Given the description of an element on the screen output the (x, y) to click on. 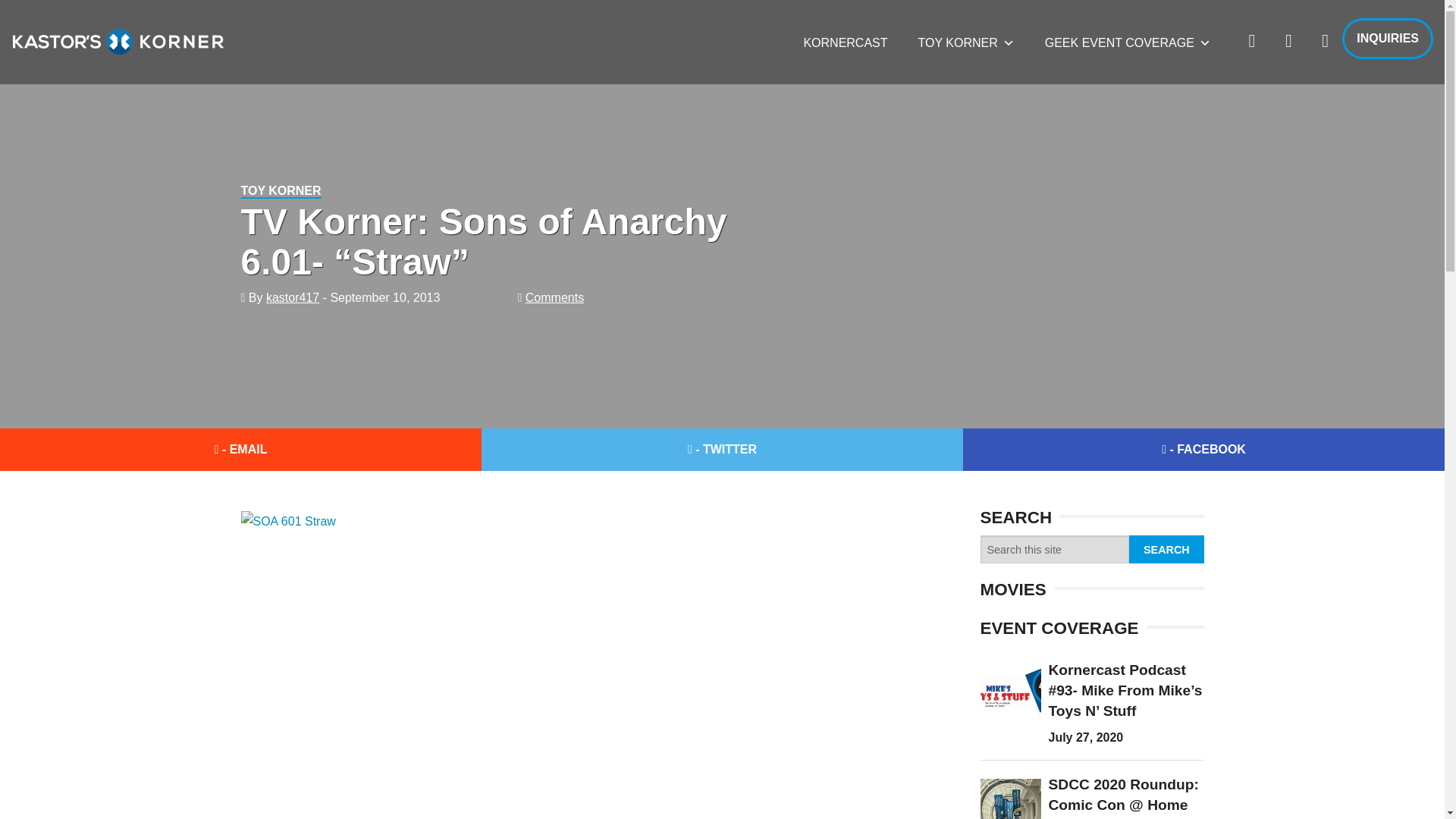
TOY KORNER (281, 191)
Comments (554, 297)
- EMAIL (240, 449)
INQUIRIES (1387, 38)
KORNERCAST (844, 42)
Search (1166, 549)
TOY KORNER (965, 42)
- TWITTER (721, 449)
Kastors Korner (117, 41)
GEEK EVENT COVERAGE (1127, 42)
